Given the description of an element on the screen output the (x, y) to click on. 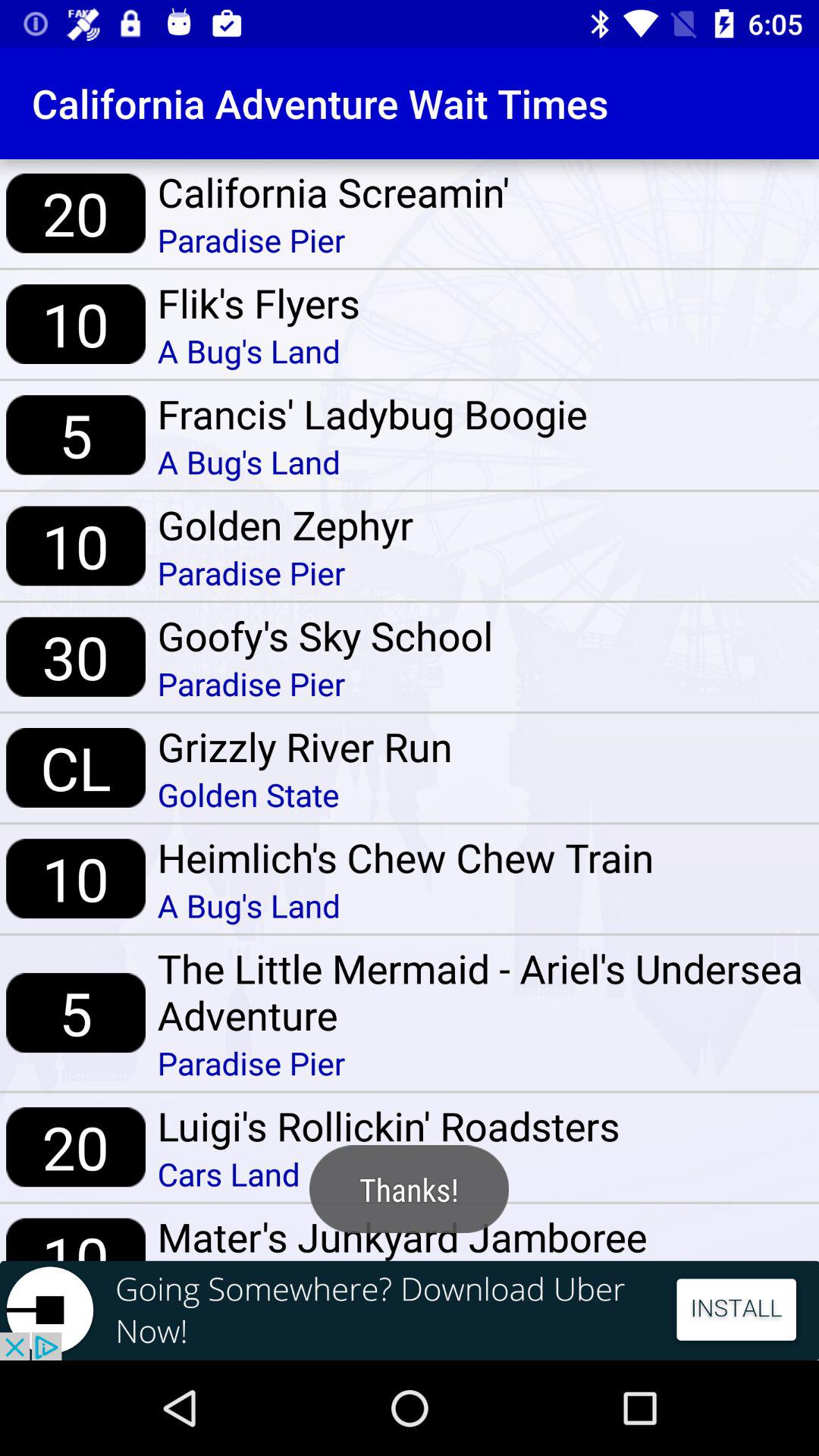
press the icon next to 30 icon (325, 635)
